Given the description of an element on the screen output the (x, y) to click on. 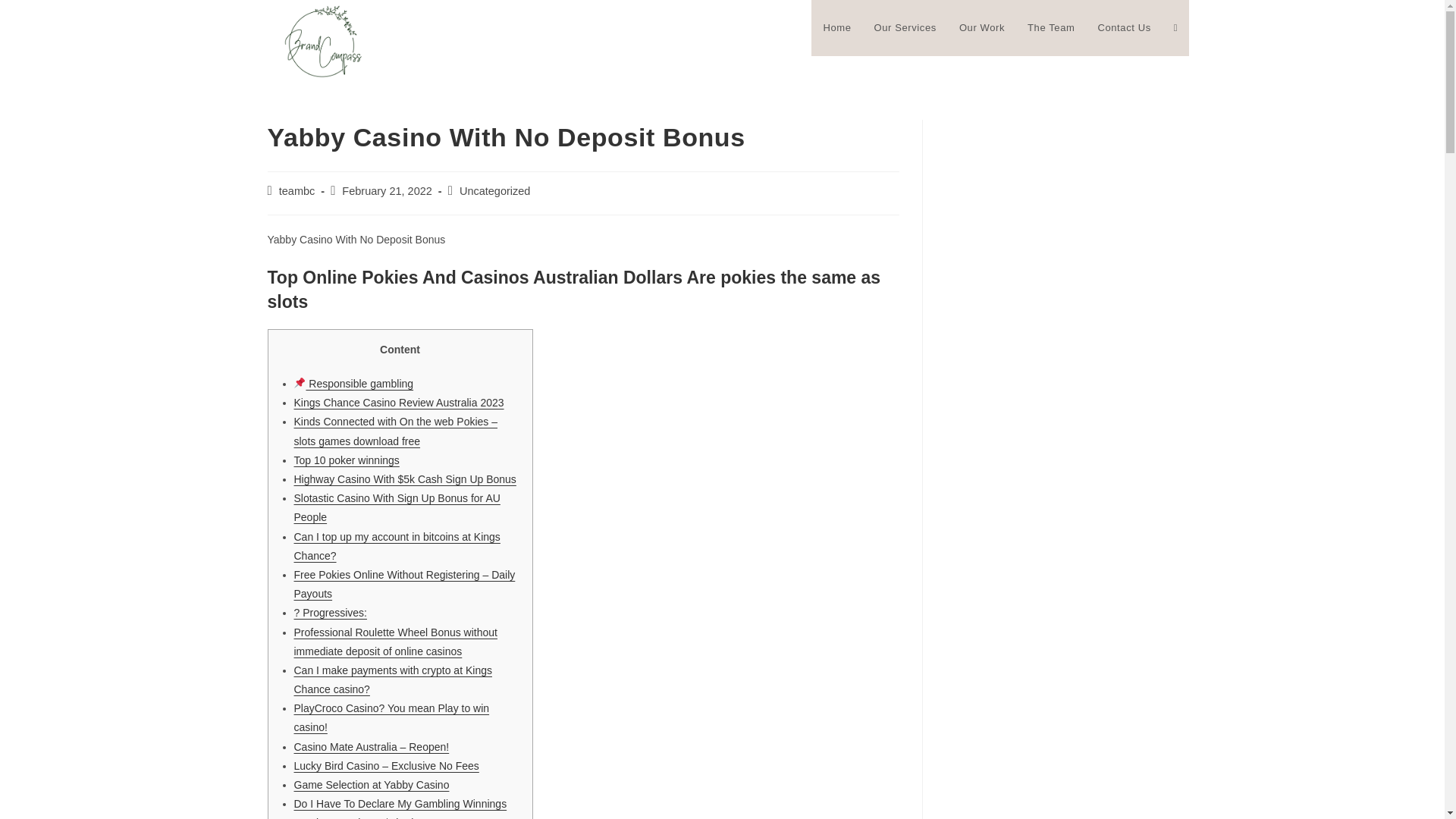
Can I top up my account in bitcoins at Kings Chance? (397, 545)
Posts by teambc (297, 191)
PlayCroco Casino? You mean Play to win casino! (391, 717)
Our Services (905, 28)
Uncategorized (495, 191)
Home (835, 28)
Our Work (981, 28)
The Team (1051, 28)
Slotastic Casino With Sign Up Bonus for AU People (397, 507)
